Given the description of an element on the screen output the (x, y) to click on. 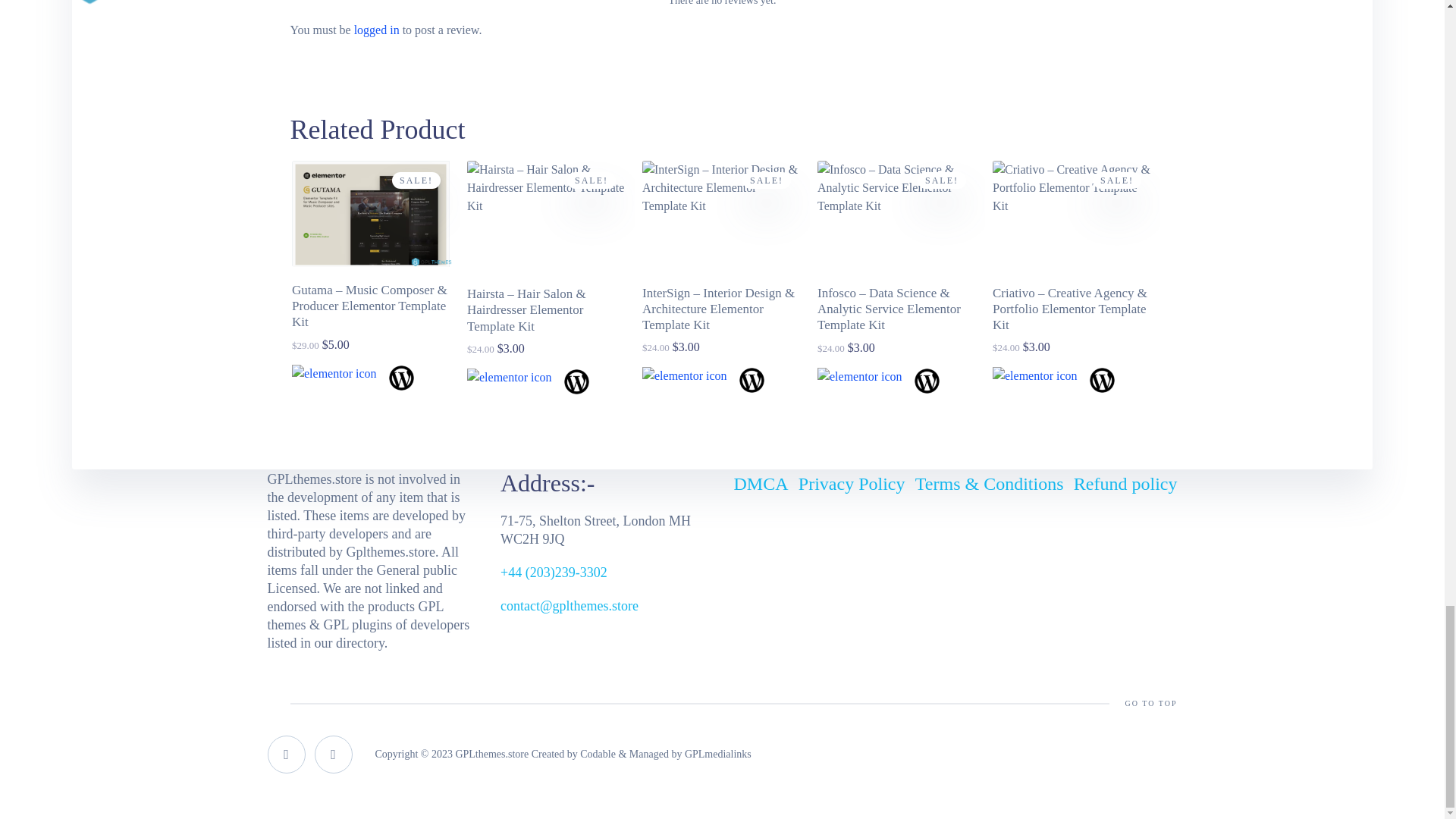
Paroti - Nonprofit Charity WordPress Theme (371, 213)
Wordpress (576, 381)
Wordpress (401, 377)
Elementor Kit (509, 377)
Paroti - Nonprofit Charity WordPress Theme (547, 215)
Paroti - Nonprofit Charity WordPress Theme (722, 215)
Elementor Kit (334, 373)
